Given the description of an element on the screen output the (x, y) to click on. 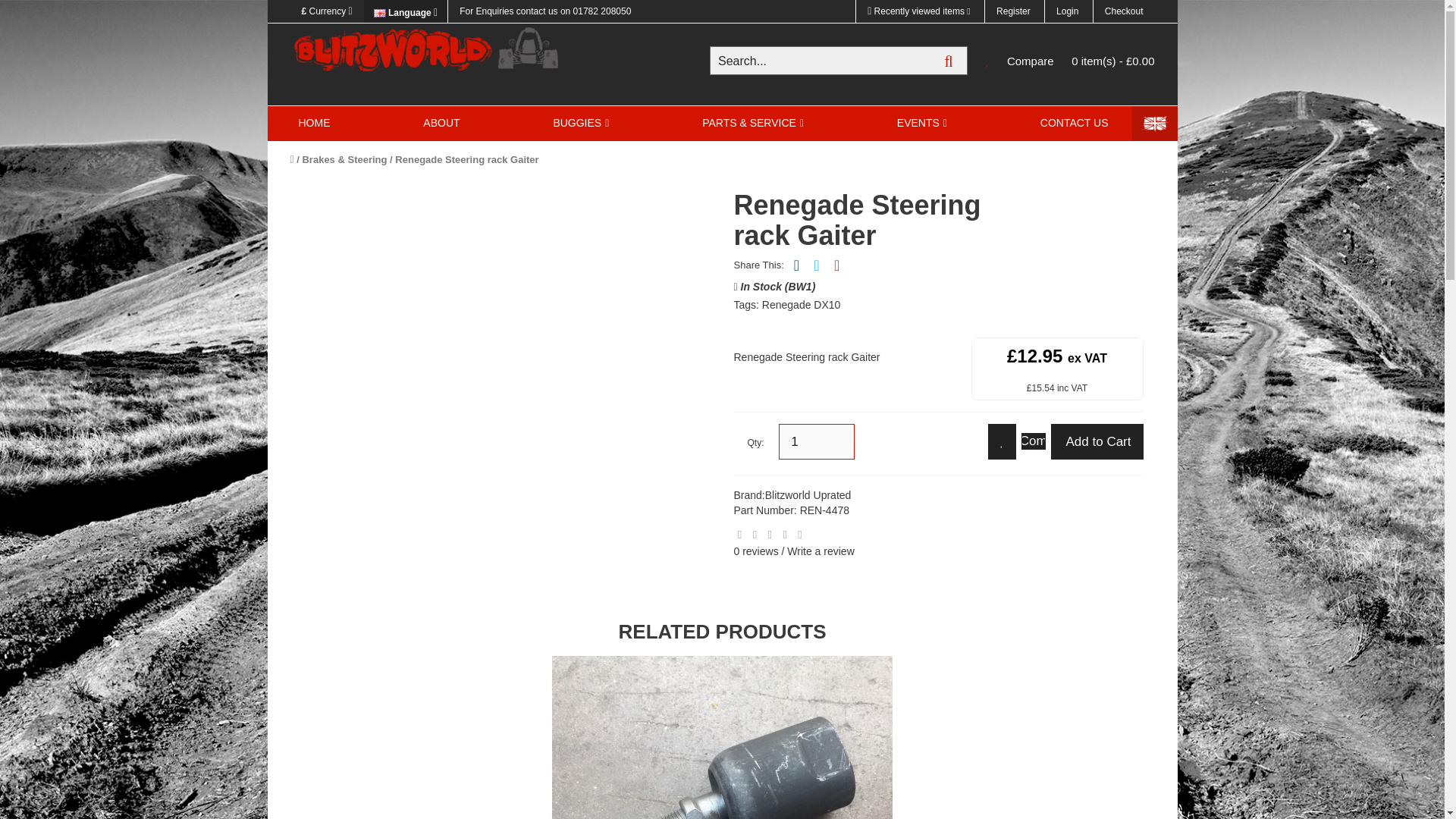
Login (1066, 11)
Blitzworld (425, 49)
1 (816, 441)
Compare this Product (1033, 441)
Checkout (1123, 11)
Compare Products (1022, 60)
EVENTS (921, 123)
Search (949, 60)
For Enquiries contact us on 01782 208050 (544, 11)
HOME (313, 123)
English (379, 13)
CONTACT US (1074, 123)
Share Product Name to Twitter (816, 264)
Language (405, 11)
ABOUT (441, 123)
